Given the description of an element on the screen output the (x, y) to click on. 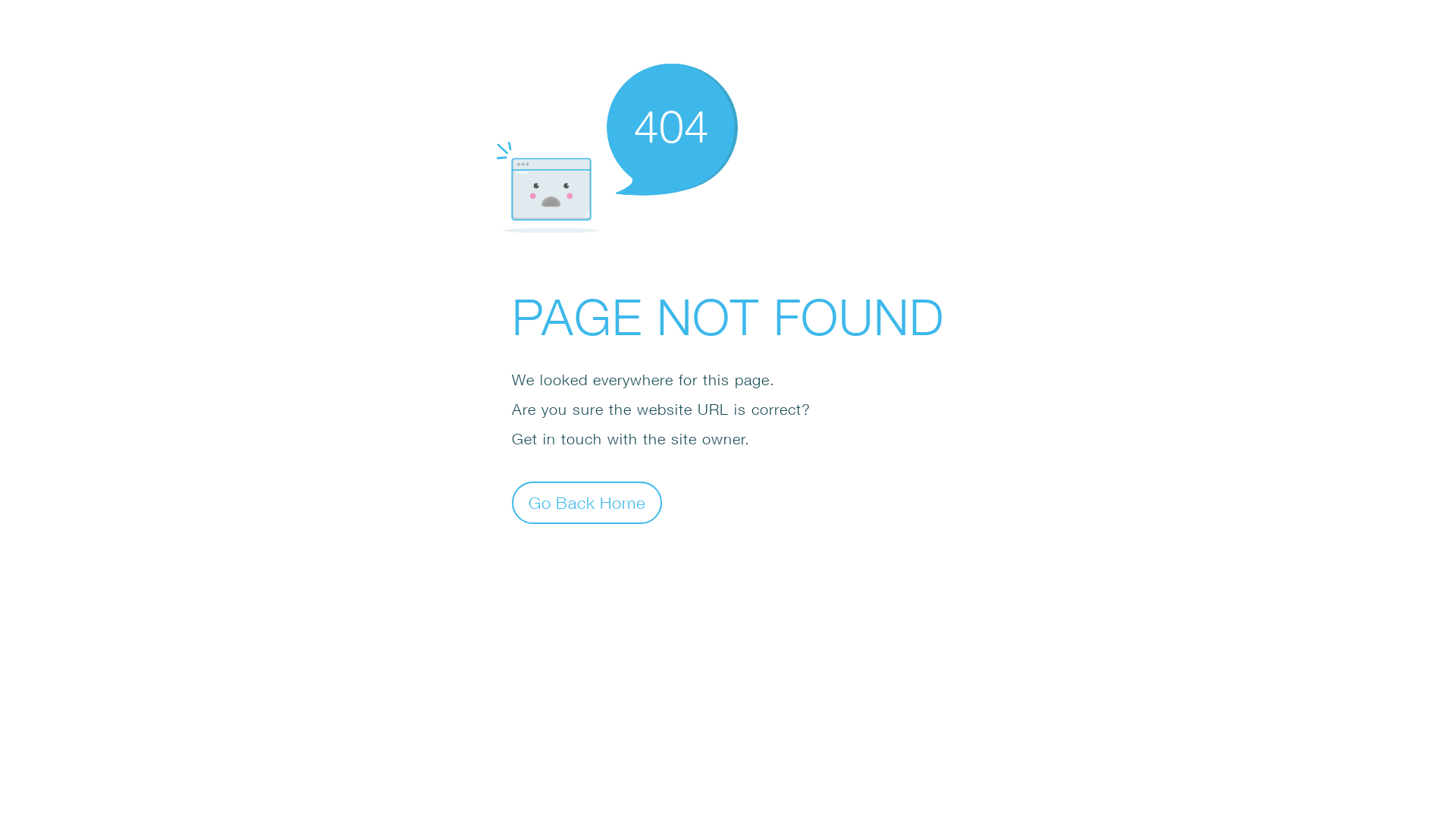
Go Back Home Element type: text (586, 502)
